Given the description of an element on the screen output the (x, y) to click on. 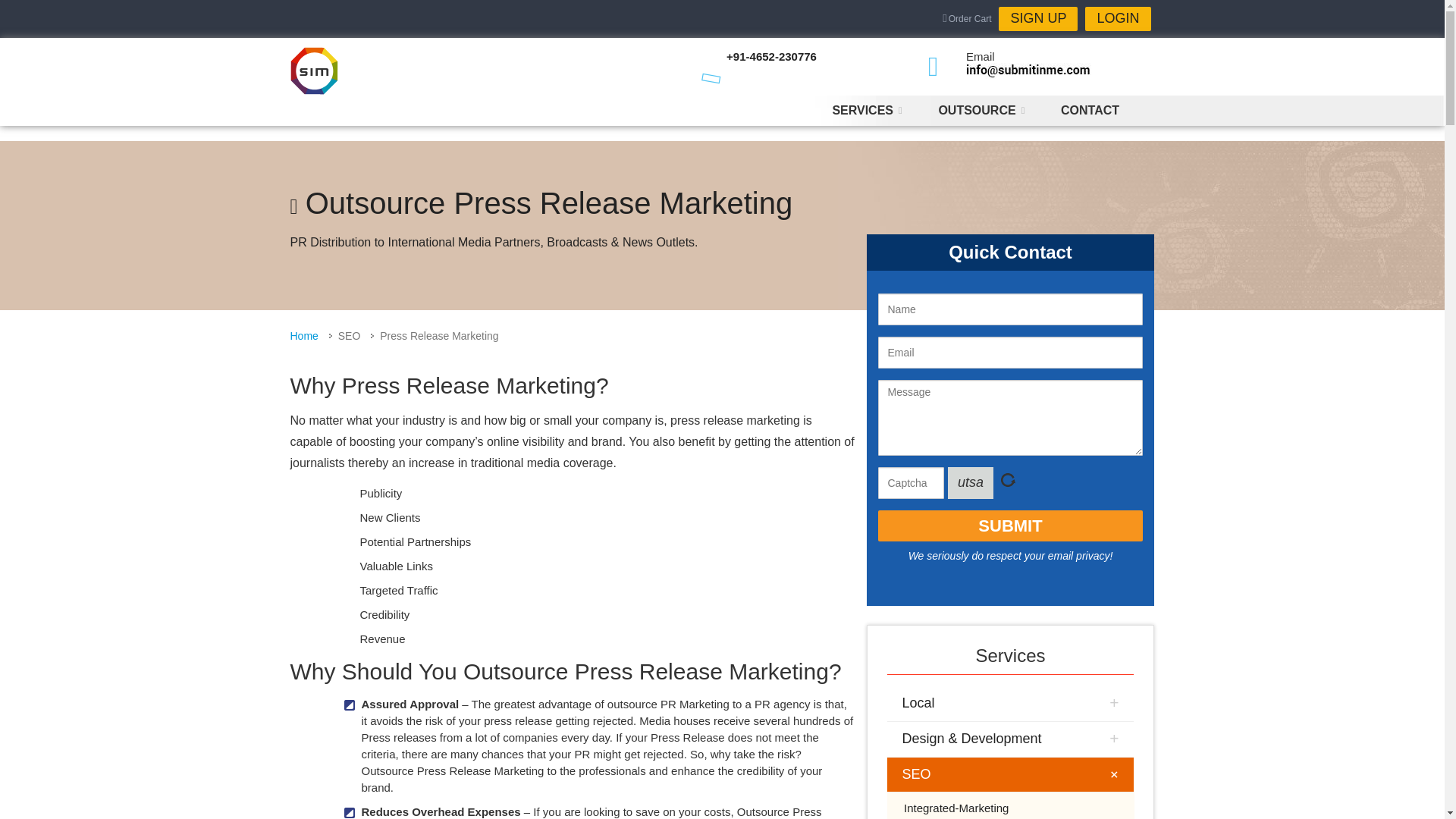
Submit (1009, 525)
utsa (969, 482)
Email (1028, 70)
Order Cart (966, 18)
Home (313, 70)
SERVICES (865, 110)
SIGN UP (1037, 18)
LOGIN (1117, 18)
